Given the description of an element on the screen output the (x, y) to click on. 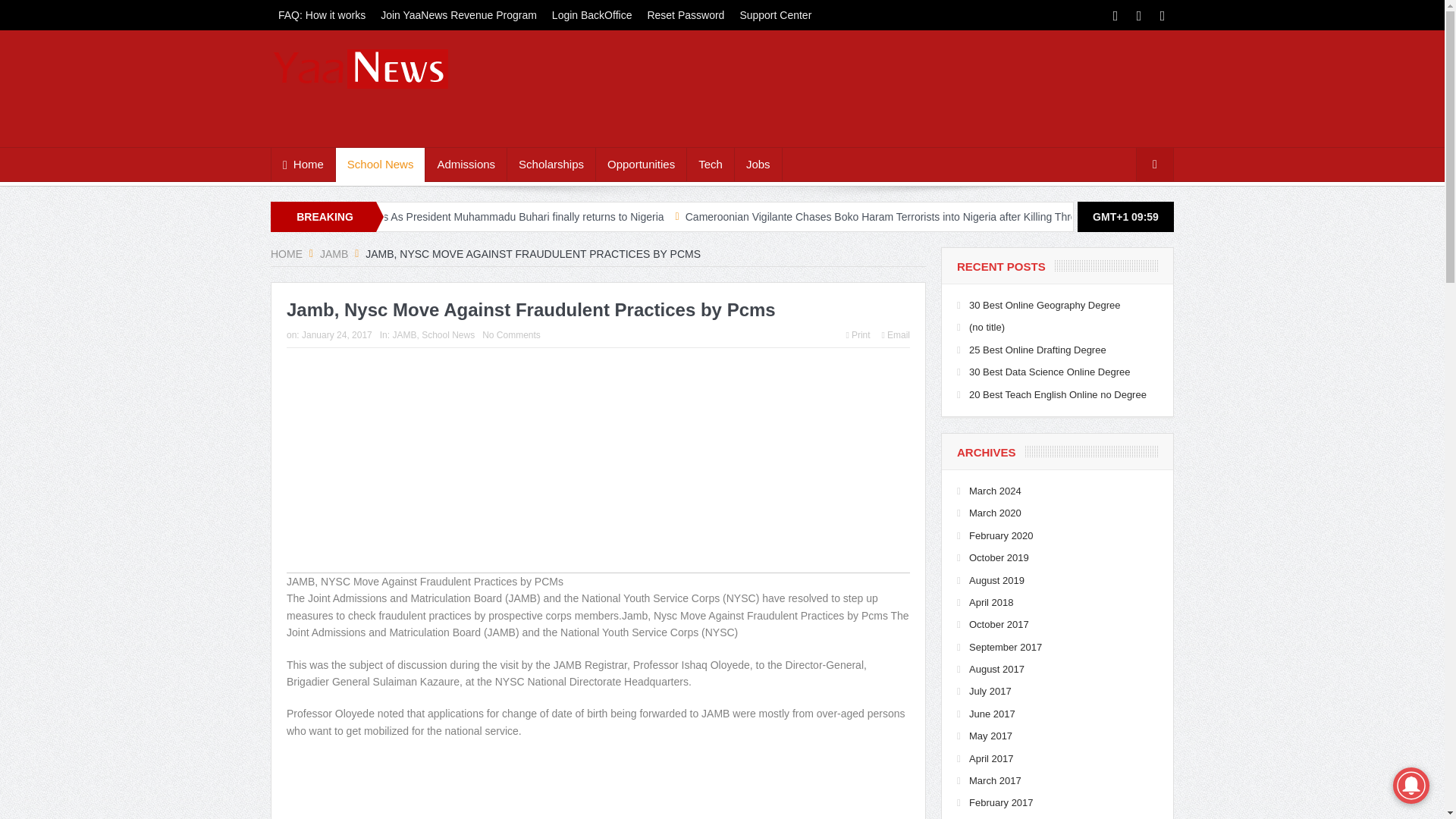
Admissions (465, 164)
HOME (286, 254)
Home (302, 164)
Tech (710, 164)
View all posts in School News (448, 335)
Login BackOffice (592, 15)
FAQ: How it works (321, 15)
Advertisement (598, 786)
Advertisement (598, 466)
Join YaaNews Revenue Program (458, 15)
Reset Password (685, 15)
Jobs (758, 164)
View all posts in JAMB (403, 335)
